Given the description of an element on the screen output the (x, y) to click on. 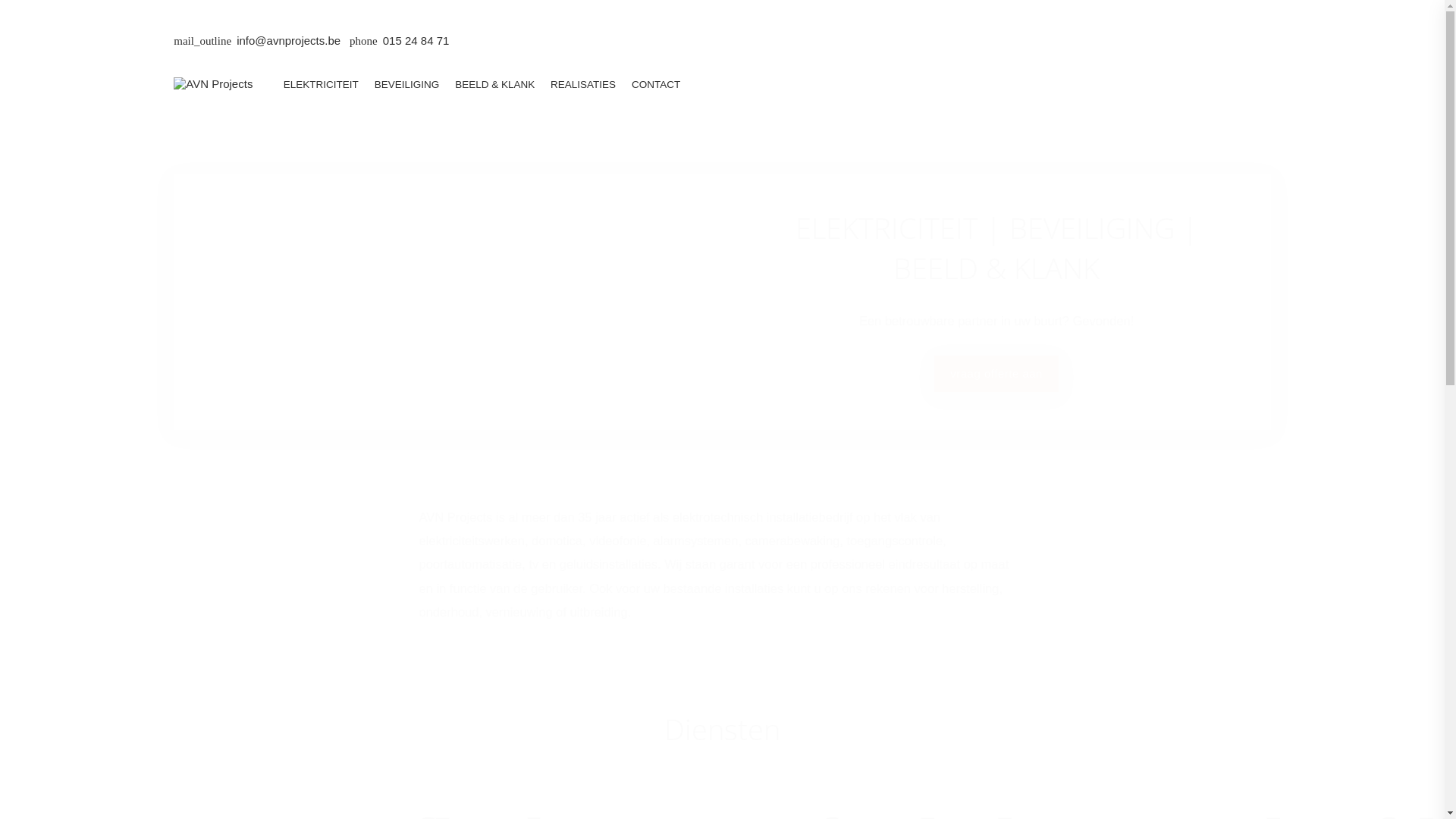
CONTACT Element type: text (655, 84)
phone
015 24 84 71 Element type: text (398, 40)
mail_outline
info@avnprojects.be Element type: text (256, 40)
BEVEILIGING Element type: text (406, 84)
REALISATIES Element type: text (583, 84)
ELEKTRICITEIT Element type: text (320, 84)
BEELD & KLANK Element type: text (495, 84)
vraag offerte aan Element type: text (996, 373)
AVN Projects Element type: hover (212, 83)
